Given the description of an element on the screen output the (x, y) to click on. 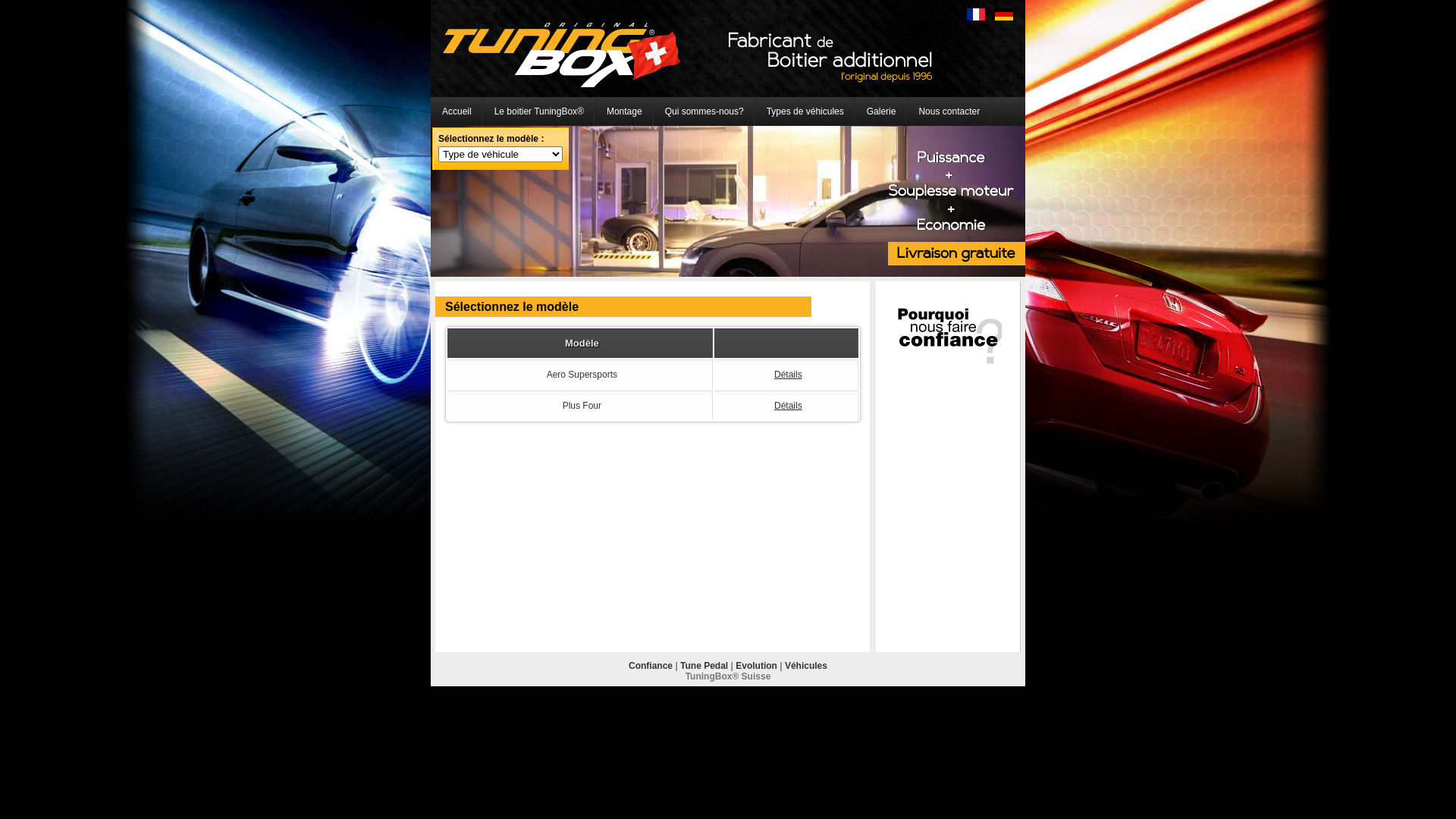
Tune Pedal Element type: text (704, 665)
Nous contacter Element type: text (948, 111)
Montage Element type: text (624, 111)
Accueil Element type: text (456, 111)
Qui sommes-nous? Element type: text (704, 111)
Galerie Element type: text (881, 111)
Deutsch Element type: hover (1003, 14)
Boitier additionnel Tuningbox Element type: hover (561, 54)
Evolution Element type: text (756, 665)
Confiance Element type: text (650, 665)
